Given the description of an element on the screen output the (x, y) to click on. 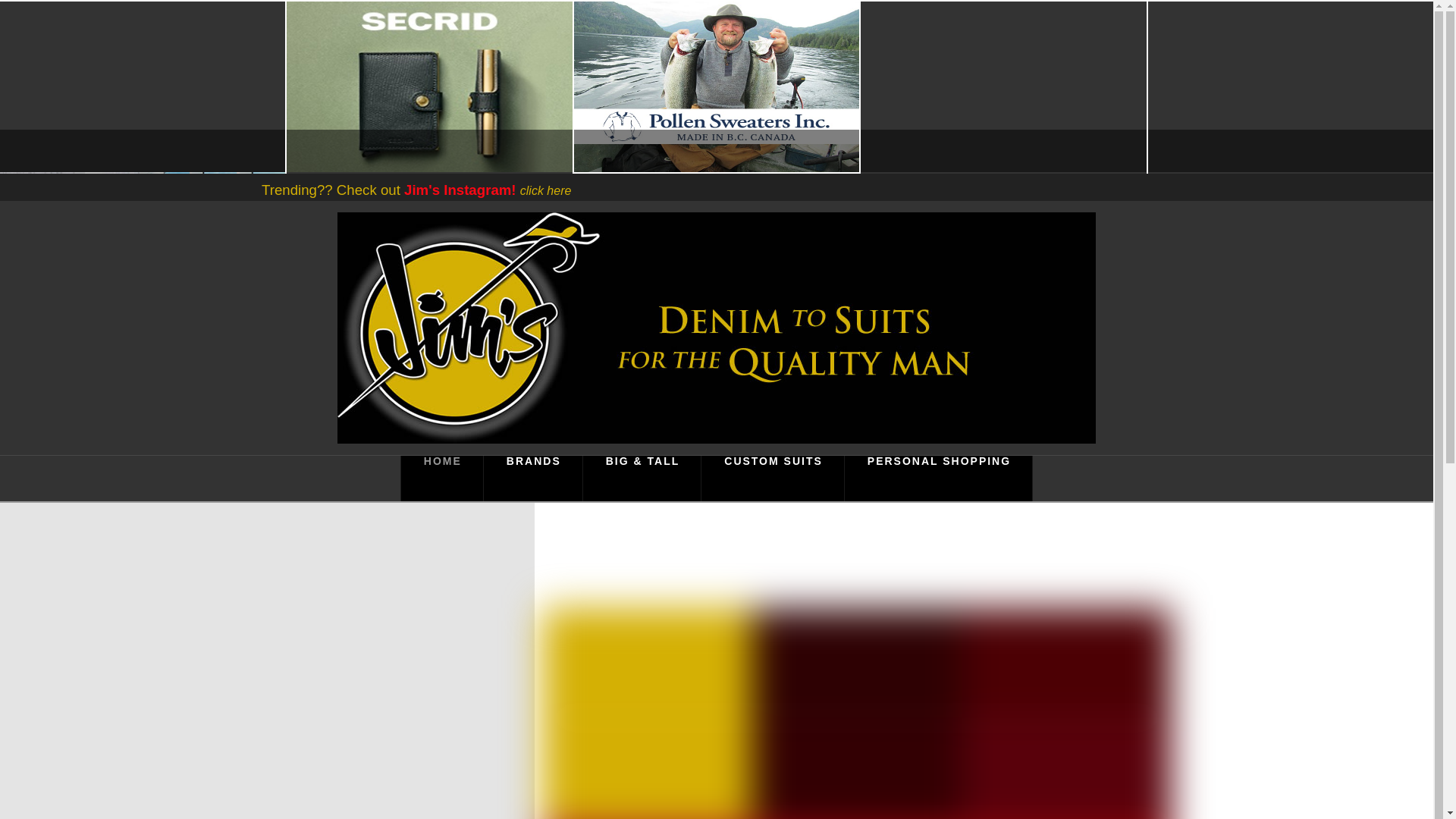
BRANDS (533, 478)
Jim's Instagram! click here (487, 189)
PERSONAL SHOPPING (938, 478)
HOME (441, 478)
CUSTOM SUITS (772, 478)
